Given the description of an element on the screen output the (x, y) to click on. 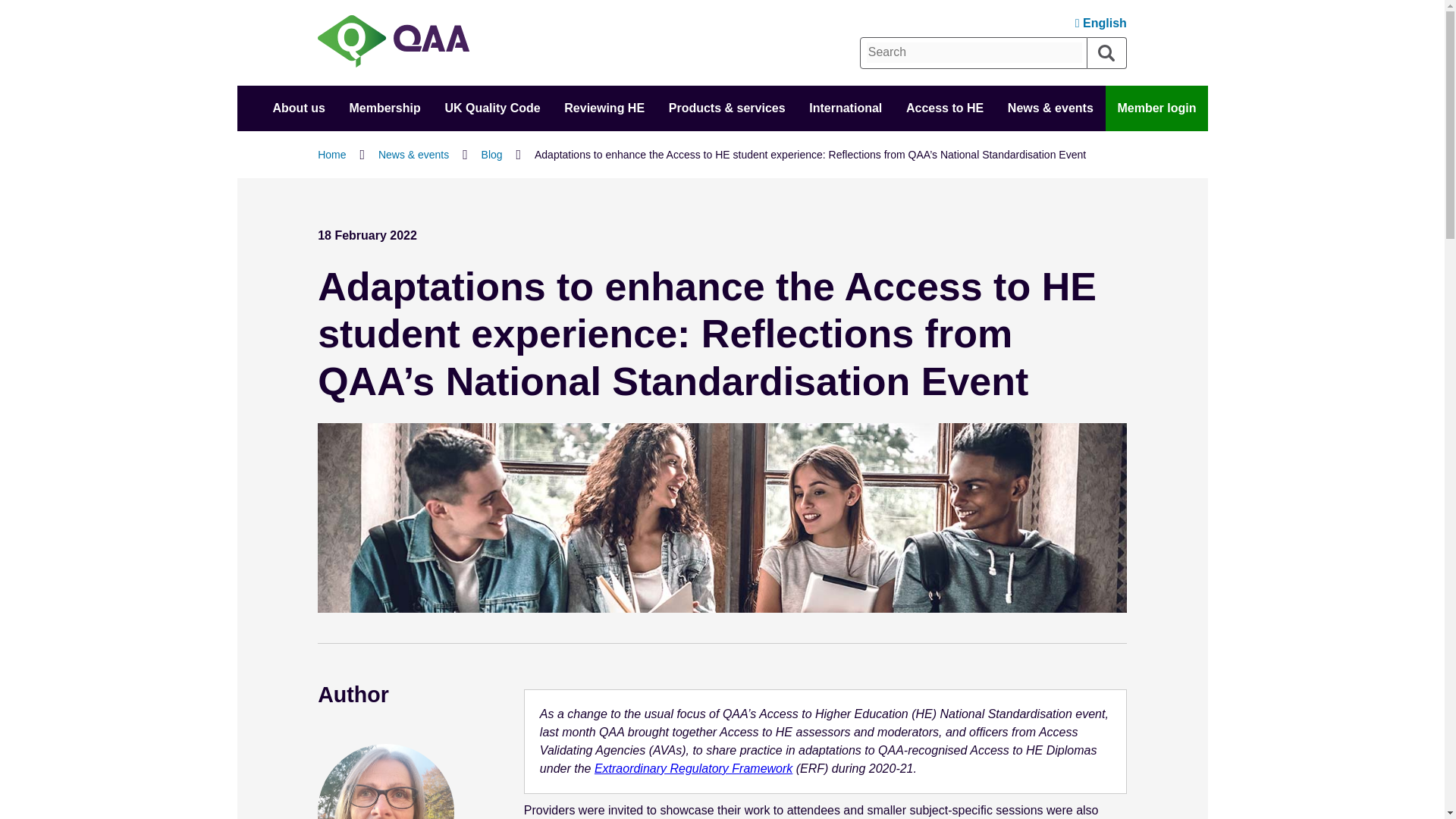
Search input (973, 52)
About us (298, 108)
English (1100, 22)
Membership (383, 108)
